Given the description of an element on the screen output the (x, y) to click on. 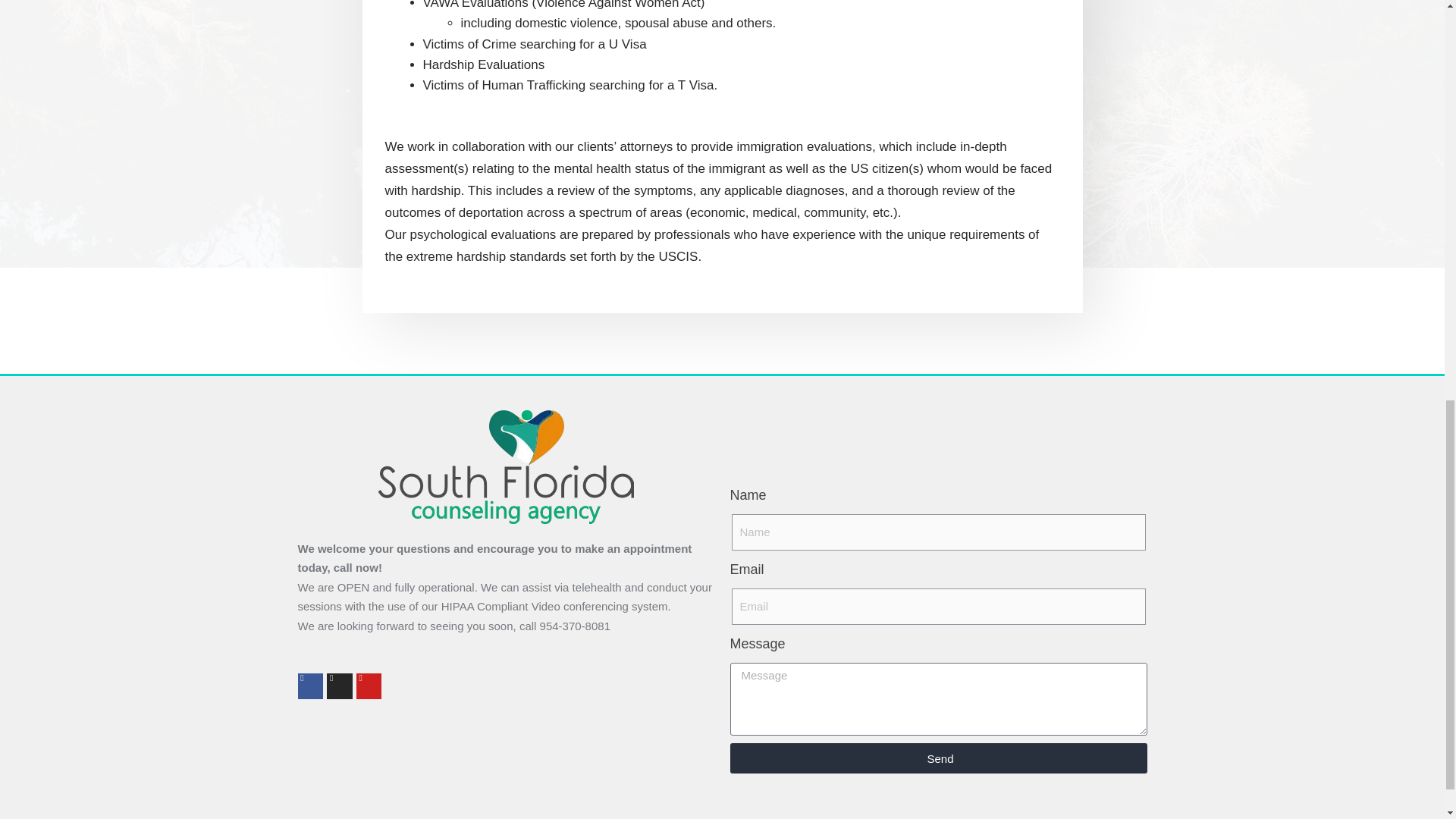
Send (938, 757)
